Given the description of an element on the screen output the (x, y) to click on. 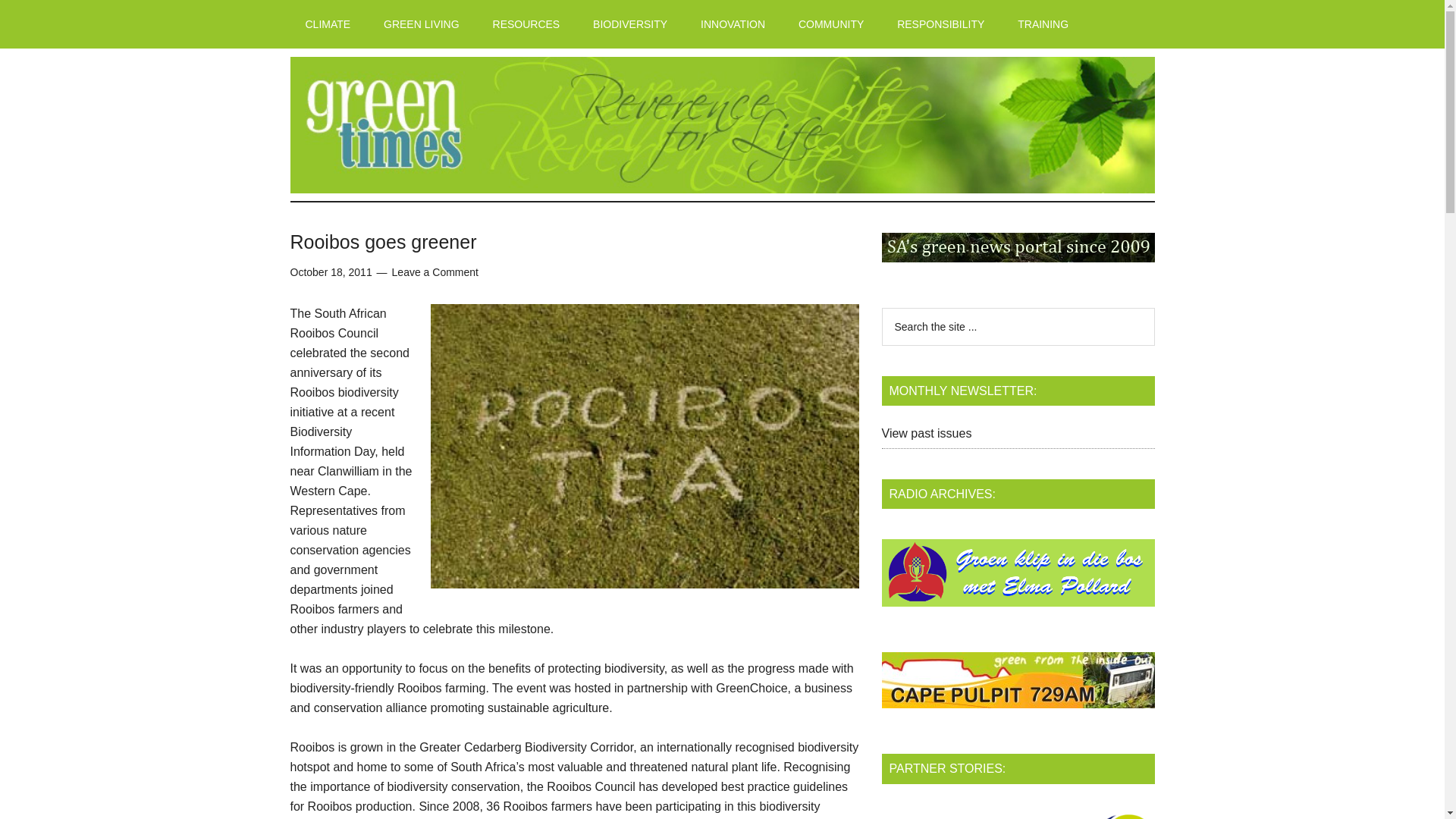
COMMUNITY (831, 24)
BIODIVERSITY (630, 24)
INNOVATION (732, 24)
CLIMATE (327, 24)
RESOURCES (526, 24)
GREEN LIVING (421, 24)
